Given the description of an element on the screen output the (x, y) to click on. 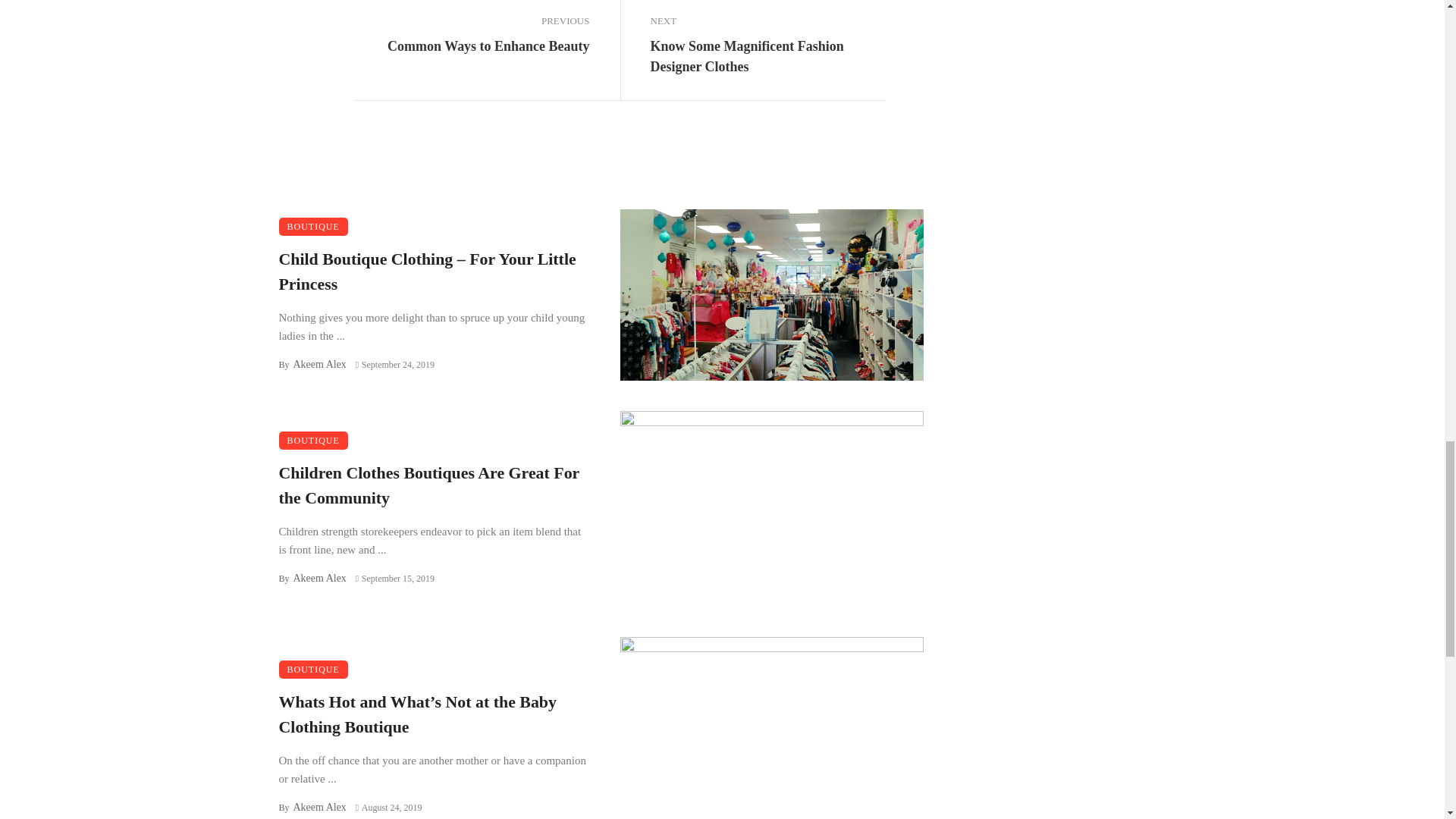
NEXT (767, 21)
Akeem Alex (319, 364)
Common Ways to Enhance Beauty (488, 46)
PREVIOUS (472, 21)
Know Some Magnificent Fashion Designer Clothes (767, 56)
BOUTIQUE (313, 226)
BOUTIQUE (313, 440)
